Given the description of an element on the screen output the (x, y) to click on. 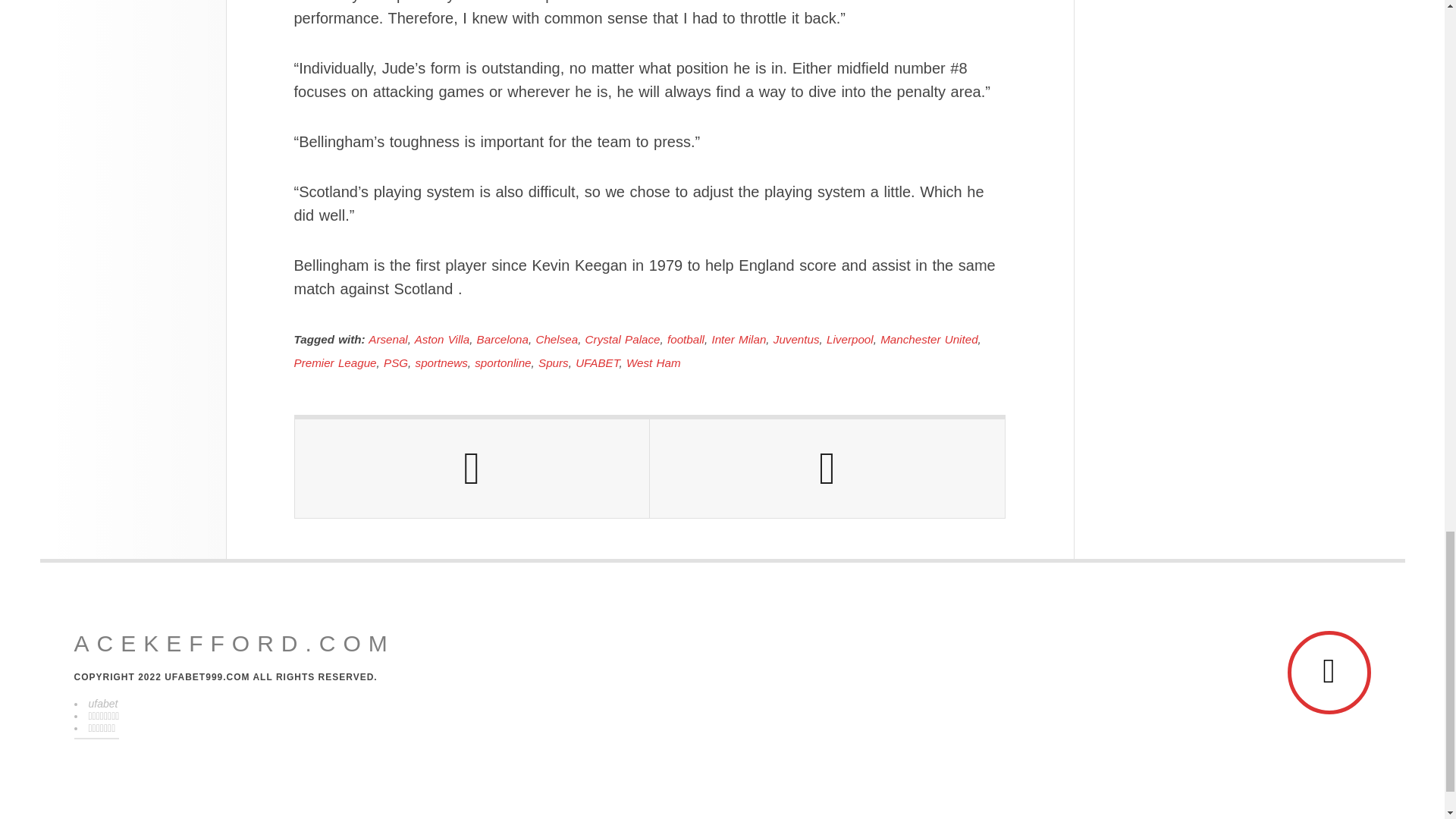
Premier League (335, 362)
Juventus (796, 338)
Spurs (553, 362)
sportnews (440, 362)
Previous Post (471, 468)
PSG (395, 362)
UFABET (596, 362)
Manchester United (928, 338)
football (685, 338)
sportonline (502, 362)
